Given the description of an element on the screen output the (x, y) to click on. 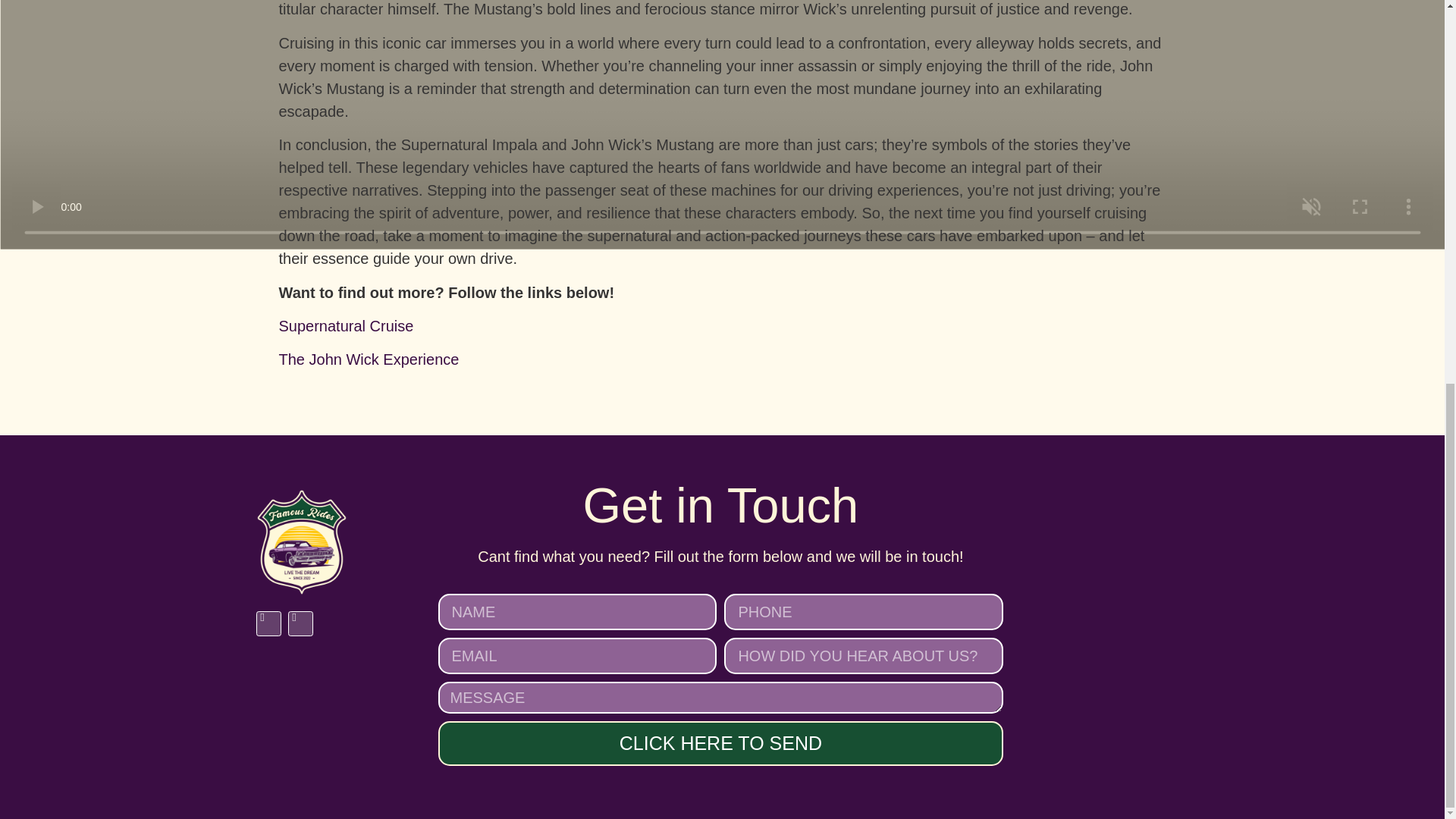
CLICK HERE TO SEND (721, 743)
Supernatural Cruise (346, 325)
The John Wick Experience (369, 359)
